Given the description of an element on the screen output the (x, y) to click on. 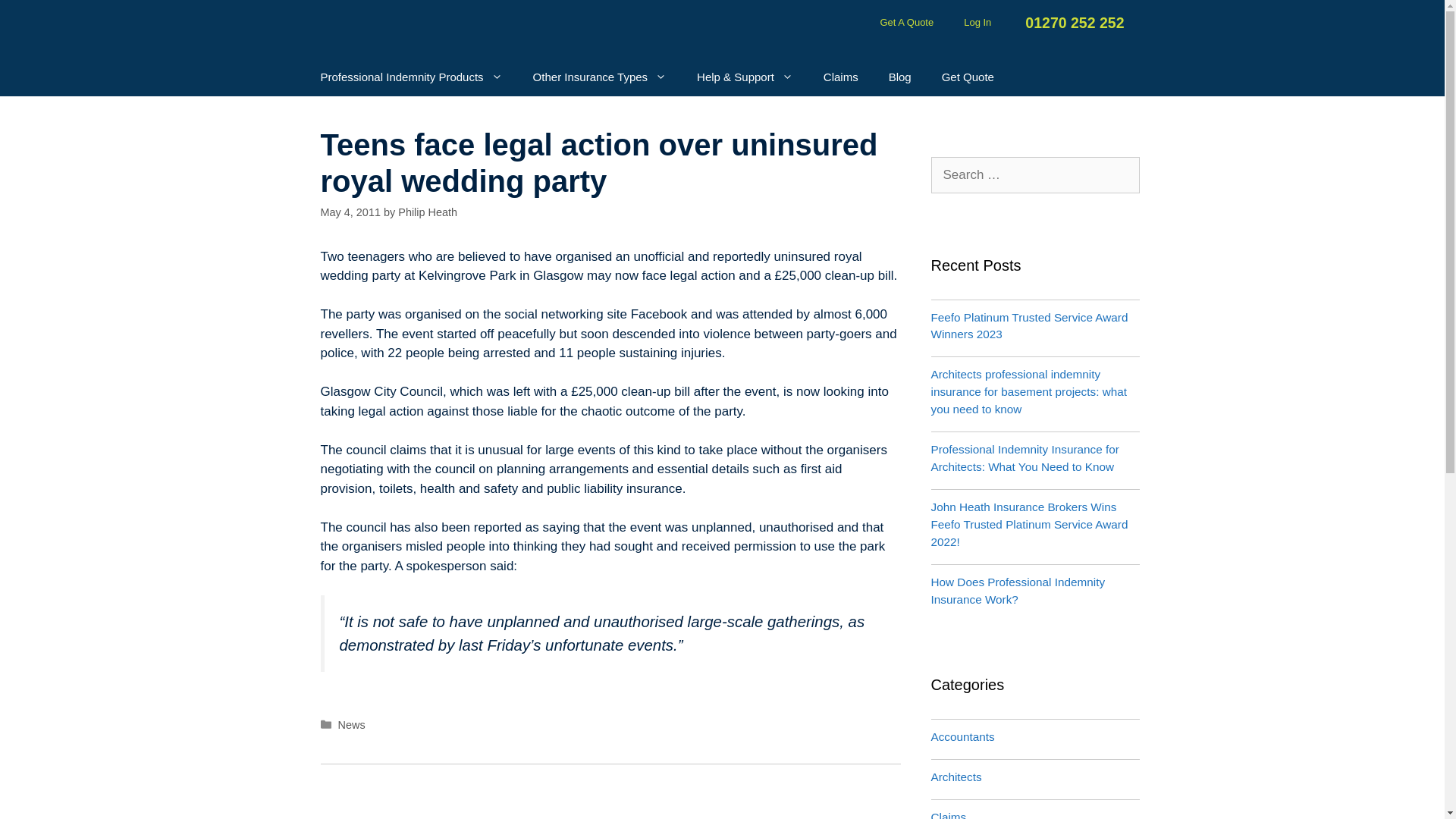
01270 252 252 (1072, 23)
Get A Quote (906, 22)
Search for: (1035, 175)
View all posts by Philip Heath (427, 212)
Log In (977, 22)
